Given the description of an element on the screen output the (x, y) to click on. 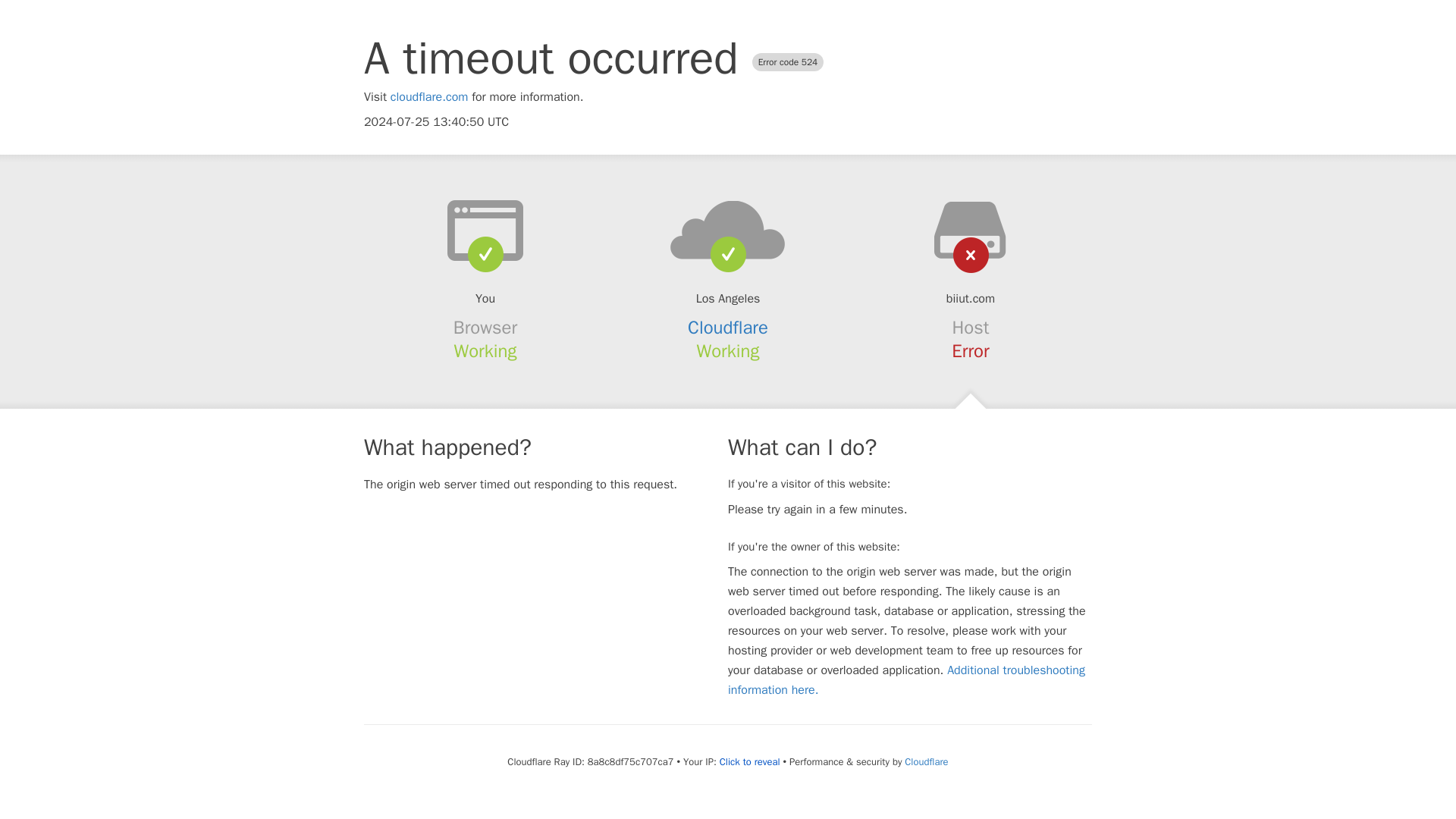
cloudflare.com (429, 96)
Click to reveal (749, 762)
Cloudflare (727, 327)
Additional troubleshooting information here. (906, 679)
Cloudflare (925, 761)
